Given the description of an element on the screen output the (x, y) to click on. 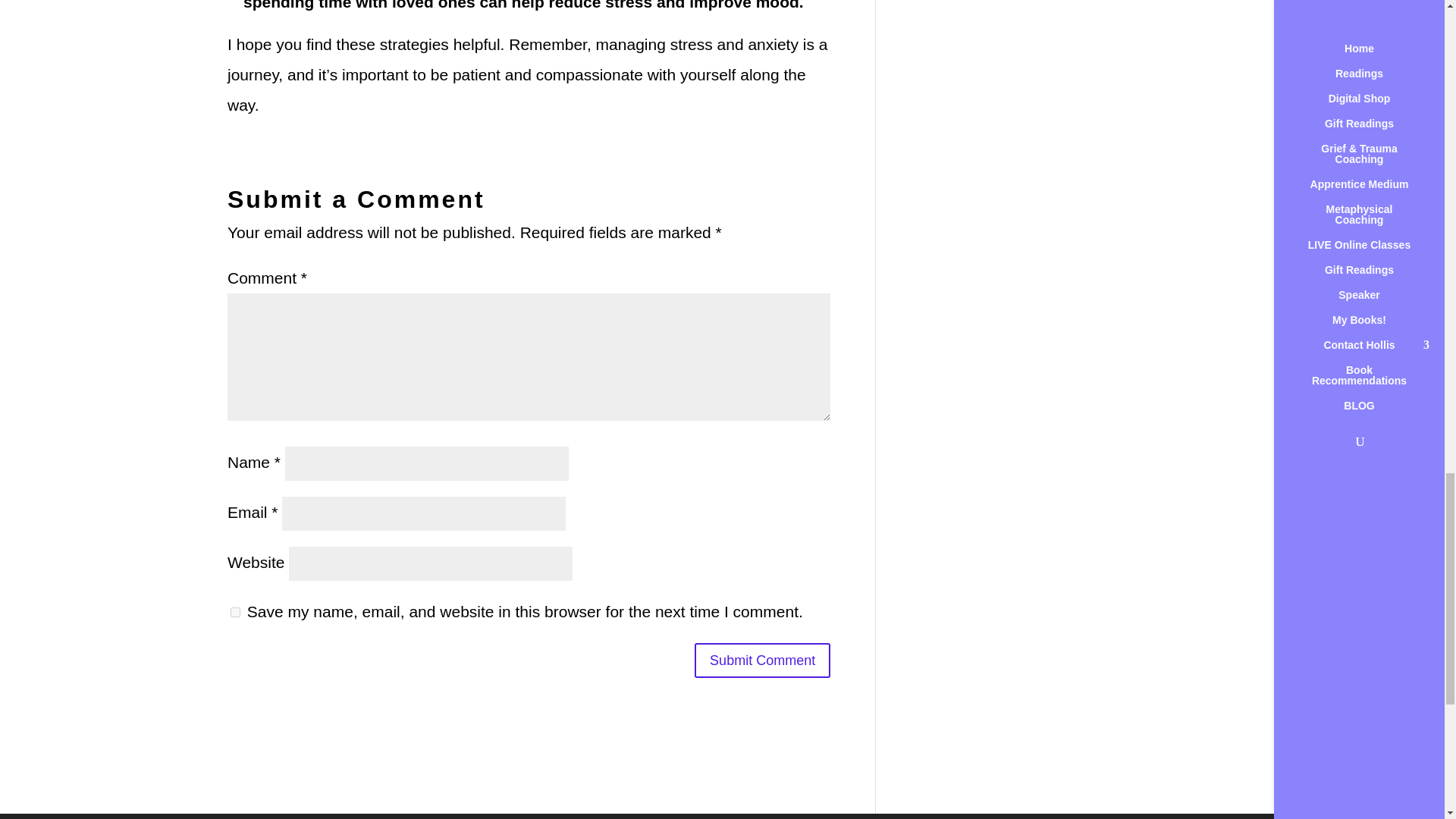
Submit Comment (761, 659)
Submit Comment (761, 659)
yes (235, 612)
